Given the description of an element on the screen output the (x, y) to click on. 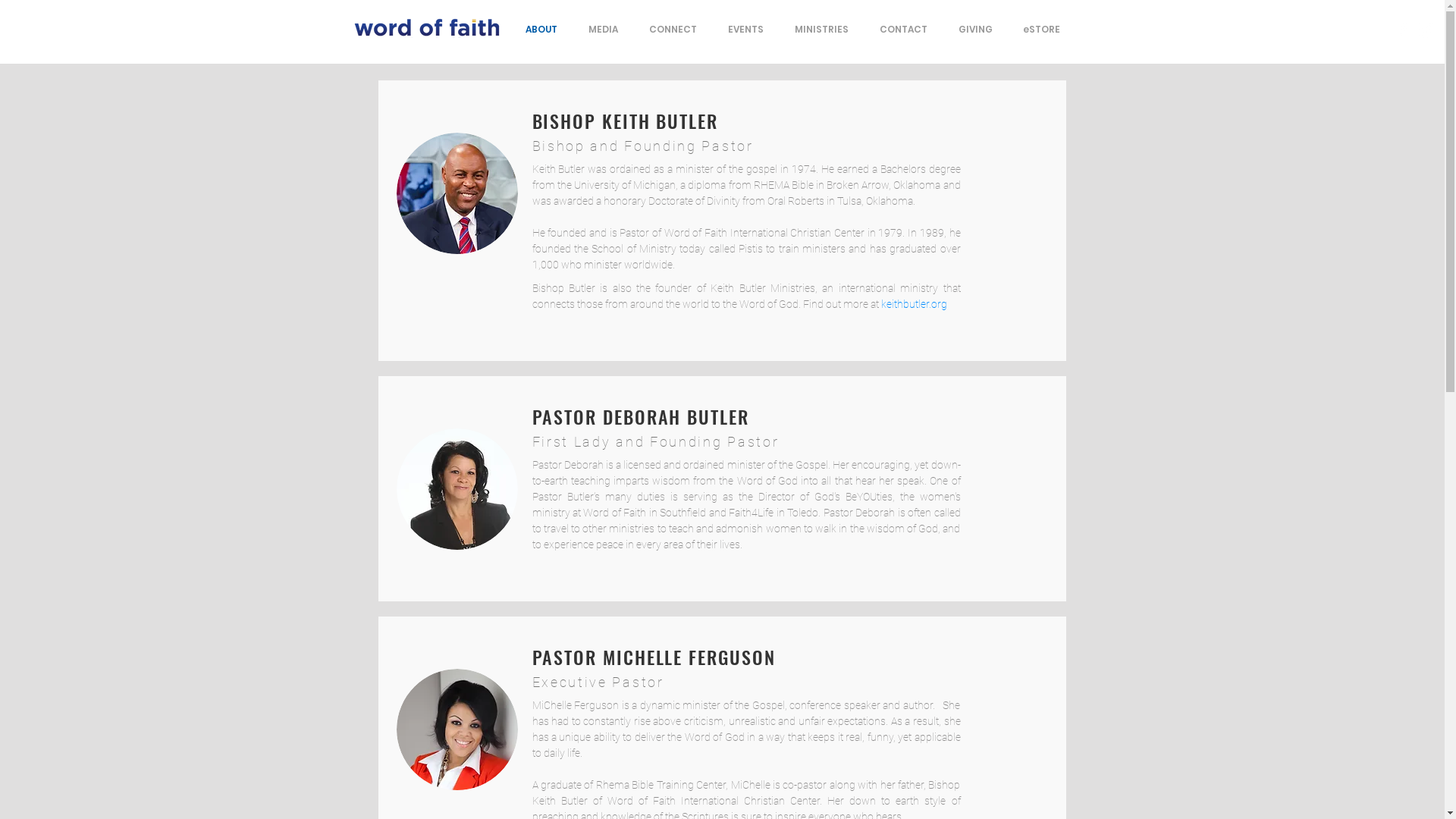
MEDIA Element type: text (603, 28)
GIVING Element type: text (975, 28)
CONNECT Element type: text (672, 28)
eSTORE Element type: text (1040, 28)
keithbutler.org Element type: text (914, 304)
EVENTS Element type: text (745, 28)
MINISTRIES Element type: text (821, 28)
ABOUT Element type: text (540, 28)
CONTACT Element type: text (903, 28)
